Given the description of an element on the screen output the (x, y) to click on. 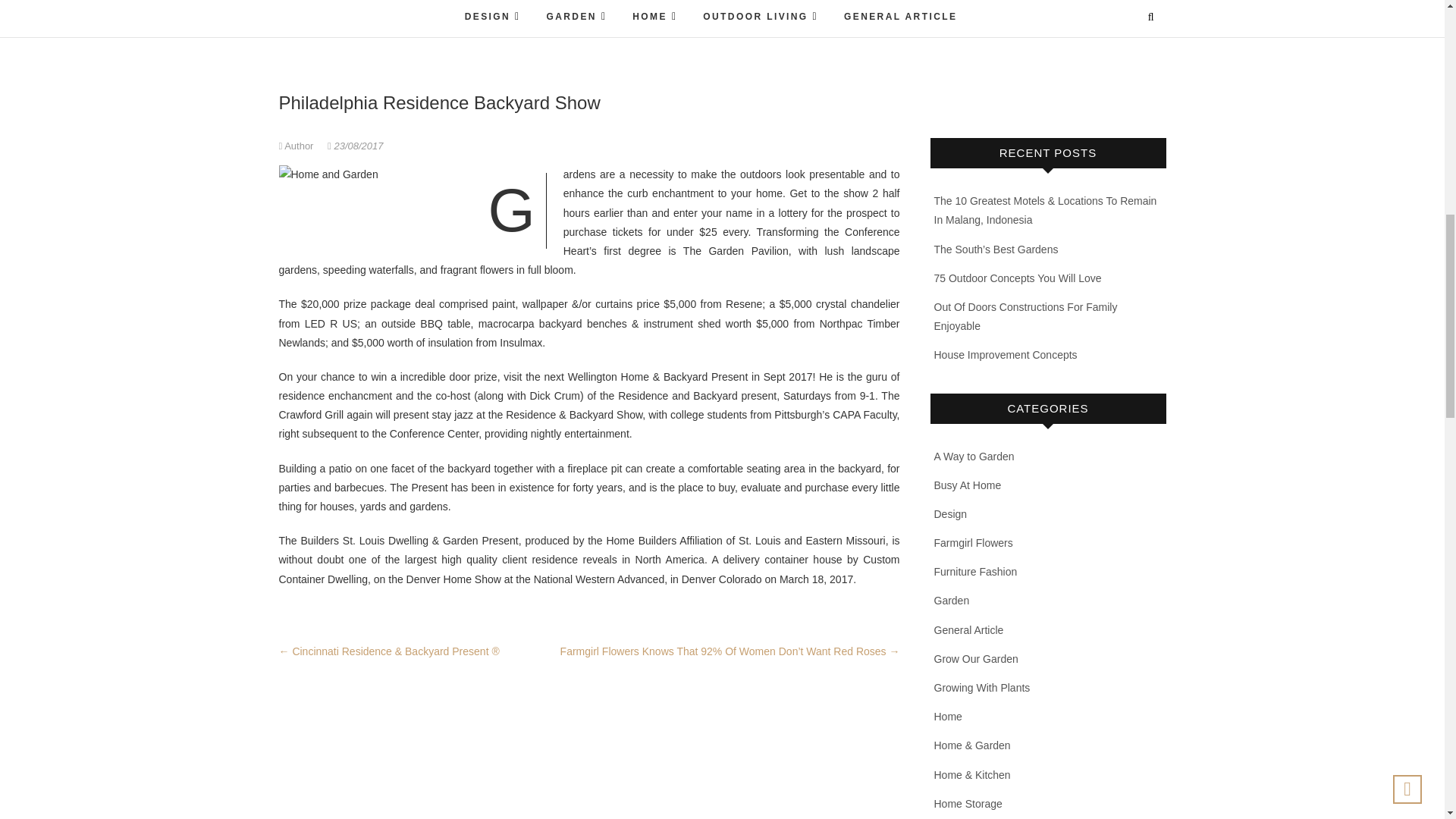
Author (298, 145)
75 Outdoor Concepts You Will Love (1018, 277)
A Way to Garden (974, 456)
HOME (654, 18)
Busy At Home (967, 485)
DESIGN (492, 18)
GENERAL ARTICLE (900, 18)
Design (951, 513)
House Improvement Concepts (1005, 354)
Author (298, 145)
